Given the description of an element on the screen output the (x, y) to click on. 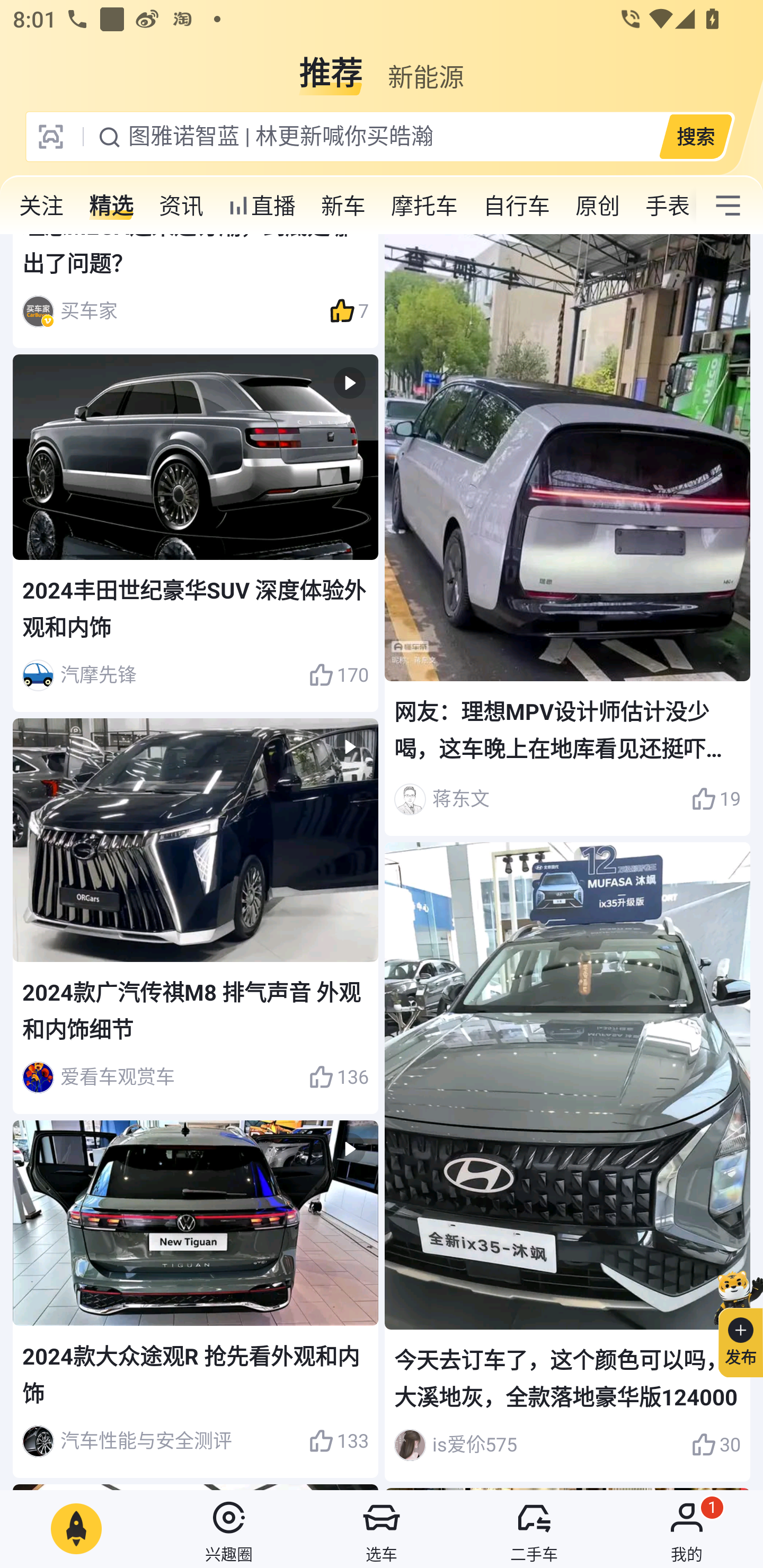
推荐 (330, 65)
新能源 (425, 65)
搜索 (695, 136)
关注 (41, 205)
精选 (111, 205)
资讯 (180, 205)
直播 (261, 205)
新车 (343, 205)
摩托车 (424, 205)
自行车 (516, 205)
原创 (597, 205)
手表 (663, 205)
 (727, 205)
7 (348, 310)
 2024丰田世纪豪华SUV 深度体验外观和内饰 汽摩先锋 170 (195, 532)
170 (338, 675)
 2024款广汽传祺M8 排气声音 外观和内饰细节 爱看车观赏车 136 (195, 915)
19 (715, 799)
今天去订车了，这个颜色可以吗，大溪地灰，全款落地豪华版124000 is爱伱575 30 (567, 1161)
136 (338, 1076)
 2024款大众途观R 抢先看外观和内饰 汽车性能与安全测评 133 (195, 1299)
发布 (732, 1321)
133 (338, 1440)
30 (715, 1444)
 兴趣圈 (228, 1528)
 选车 (381, 1528)
 二手车 (533, 1528)
 我的 (686, 1528)
